Given the description of an element on the screen output the (x, y) to click on. 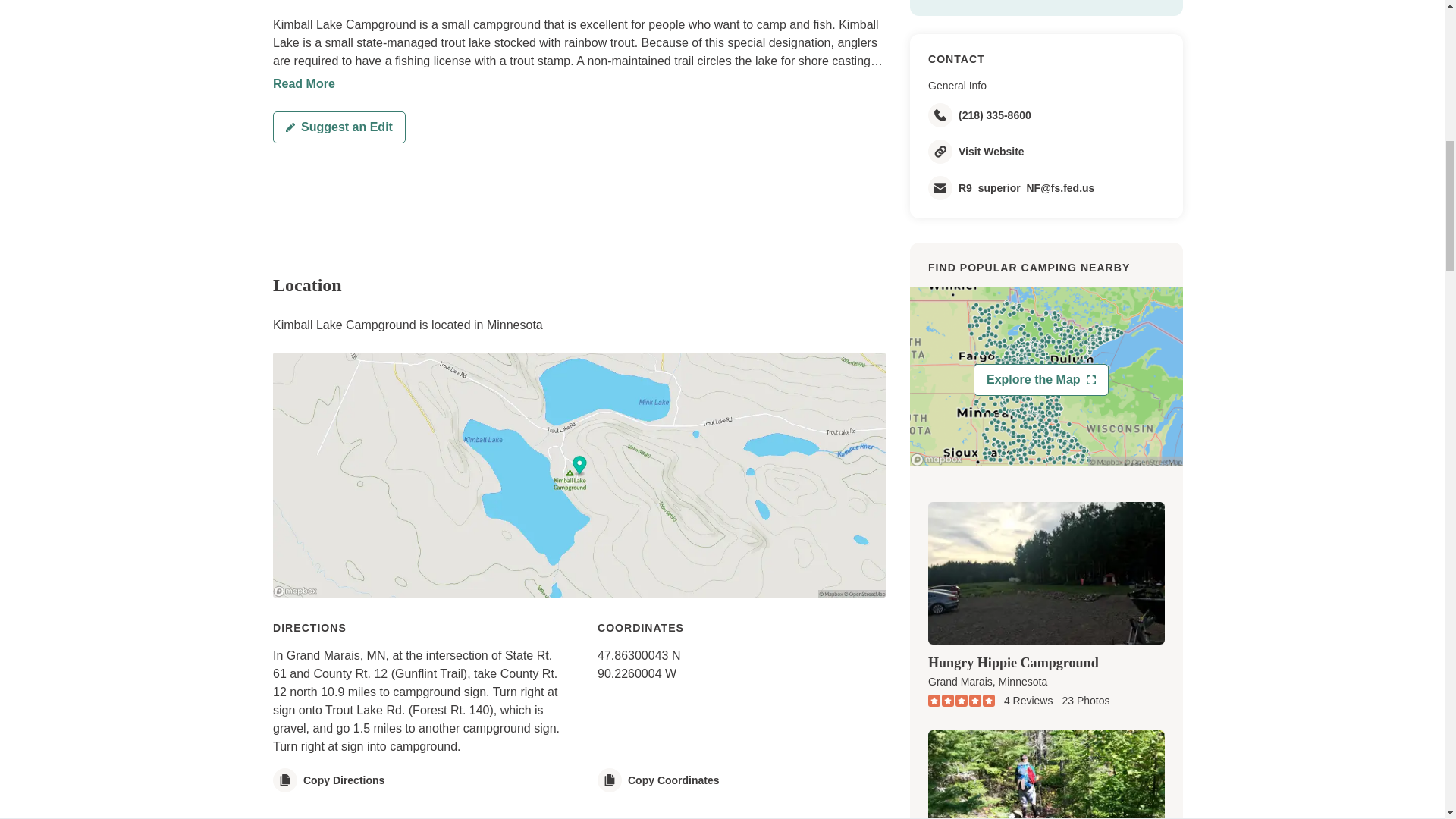
3rd party ad content (549, 207)
